Given the description of an element on the screen output the (x, y) to click on. 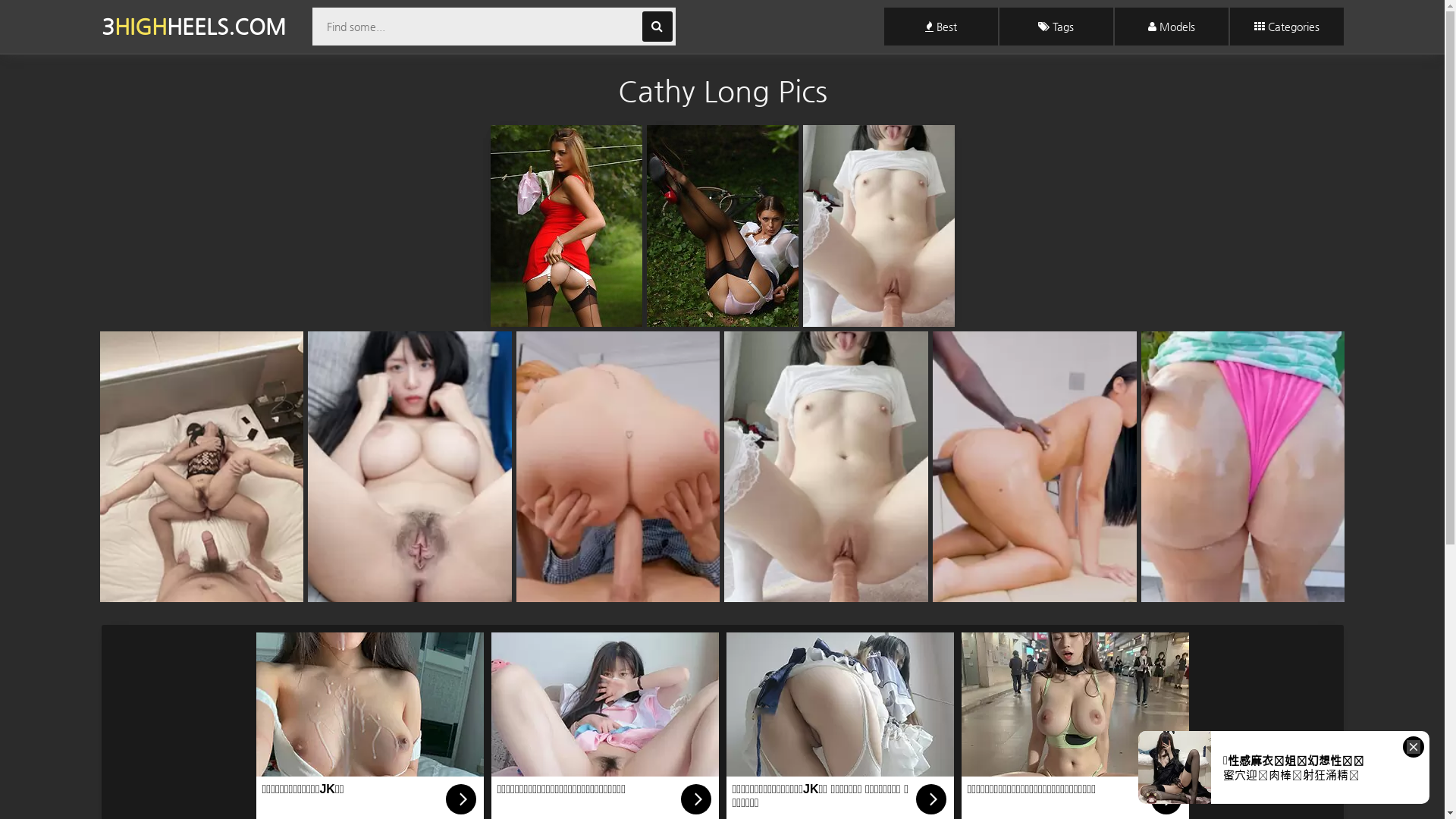
3HIGHHEELS.COM Element type: text (193, 26)
Search Element type: text (656, 26)
Categories Element type: text (1286, 26)
Tags Element type: text (1056, 26)
Models Element type: text (1171, 26)
Dirty Laundry Element type: hover (565, 225)
Search Element type: hover (656, 26)
Best Element type: text (940, 26)
After School Element type: hover (721, 225)
